Given the description of an element on the screen output the (x, y) to click on. 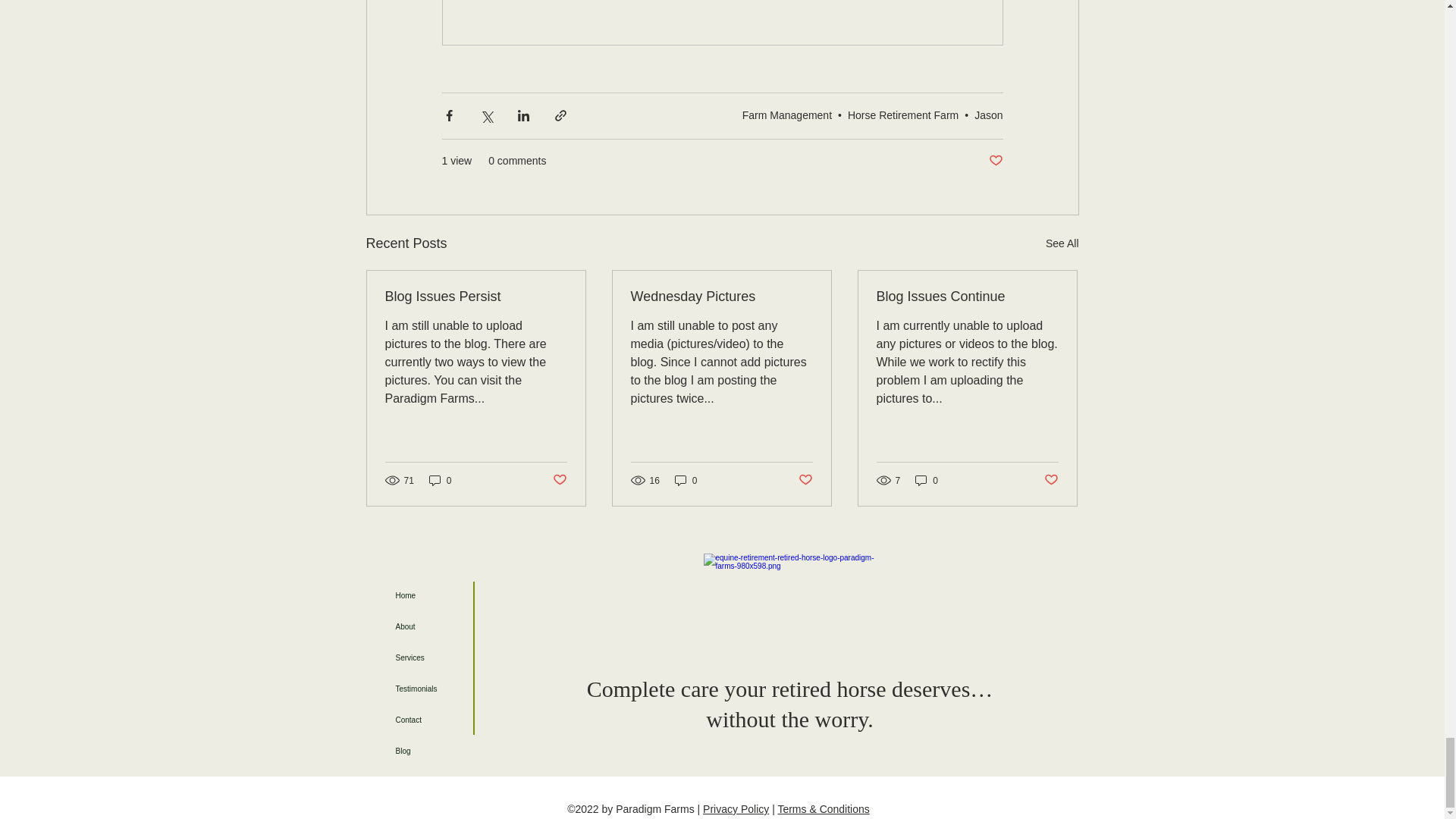
Horse Retirement Farm (902, 114)
Post not marked as liked (995, 160)
Farm Management (786, 114)
Jason (988, 114)
